Given the description of an element on the screen output the (x, y) to click on. 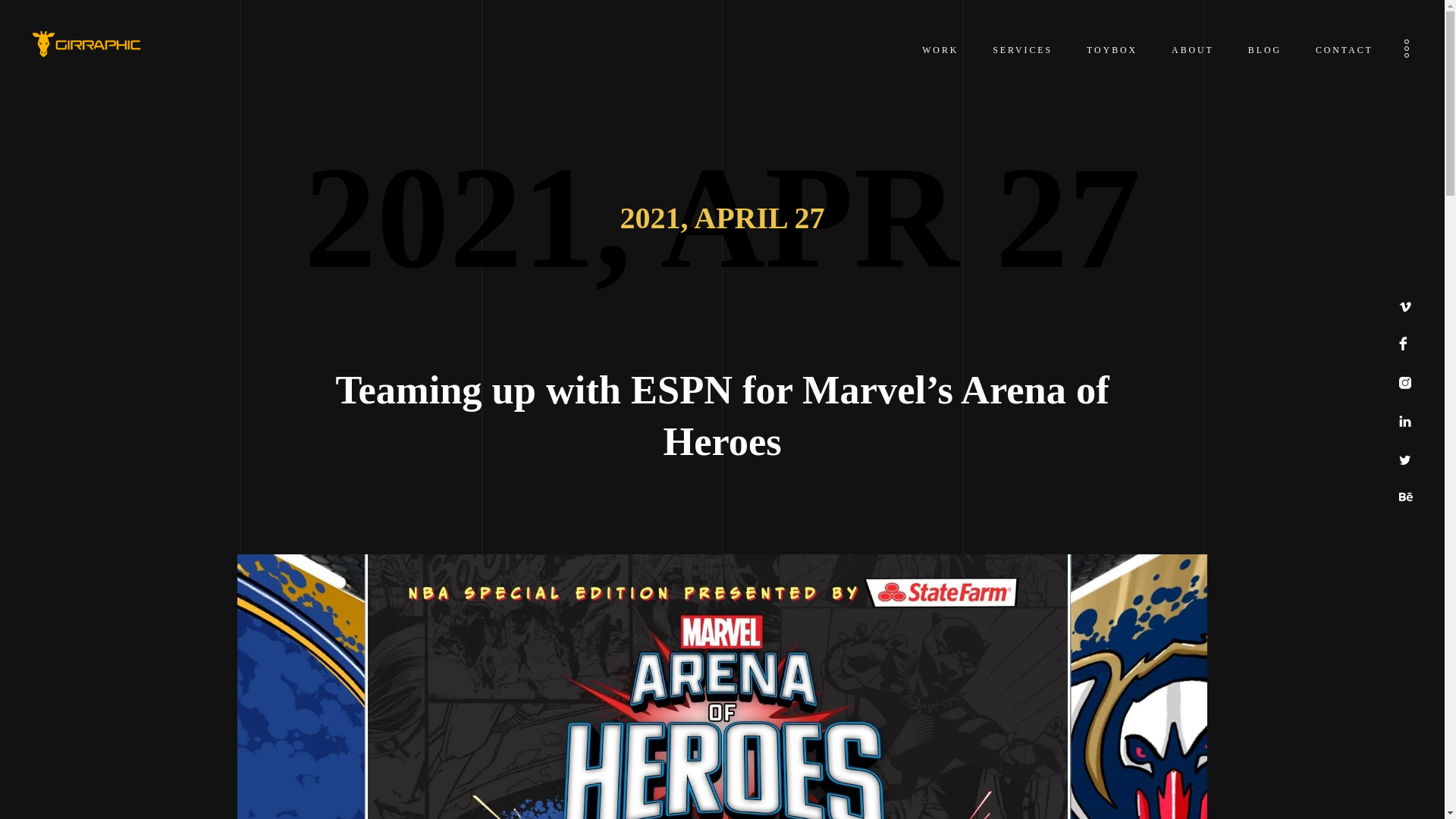
SERVICES (1022, 50)
WORK (940, 50)
CONTACT (1344, 50)
TOYBOX (1111, 50)
ABOUT (1192, 50)
BLOG (1264, 50)
